Given the description of an element on the screen output the (x, y) to click on. 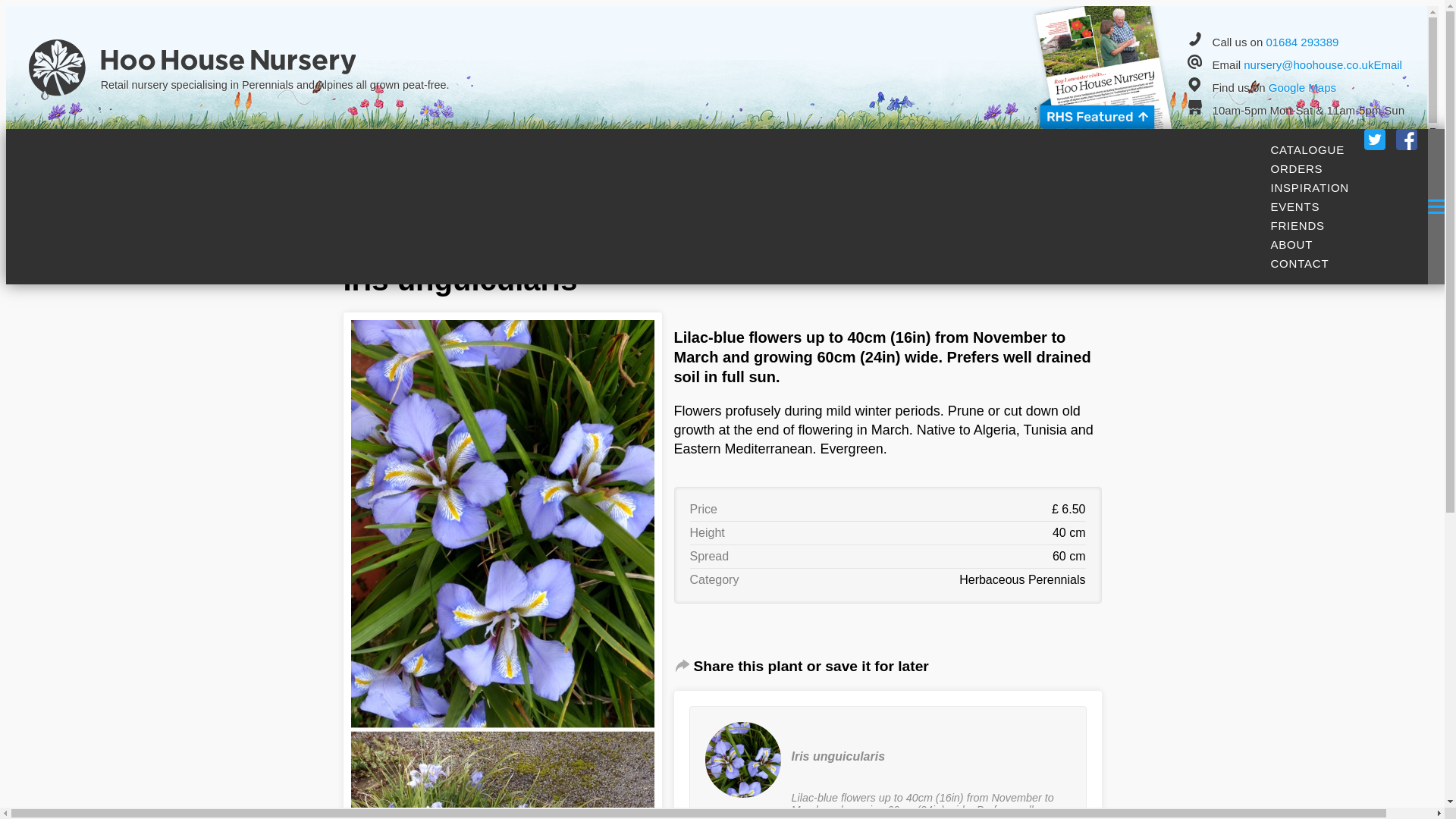
EVENTS (1295, 206)
ABOUT (1291, 244)
CONTACT (1299, 263)
Email (1387, 64)
Back to catalogue (414, 225)
Google Maps (1302, 87)
ORDERS (1296, 168)
CATALOGUE (1307, 149)
FRIENDS (1297, 225)
INSPIRATION (1309, 187)
01684 293389 (1301, 42)
